Given the description of an element on the screen output the (x, y) to click on. 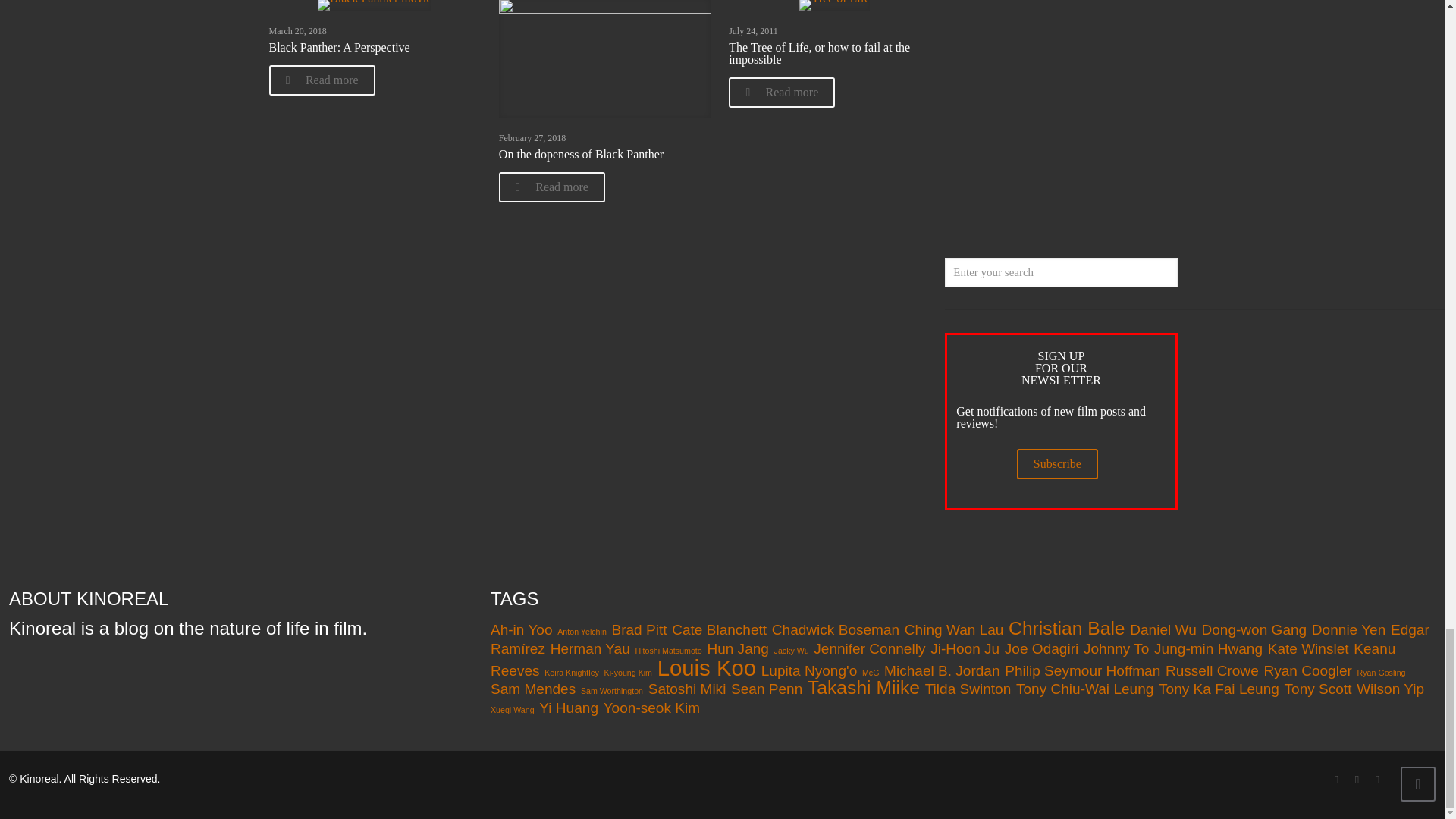
Black Panther: A Perspective (338, 47)
Facebook (1335, 779)
Twitter (1357, 779)
Read more (320, 80)
On the dopeness of Black Panther (581, 154)
RSS (1378, 779)
